Given the description of an element on the screen output the (x, y) to click on. 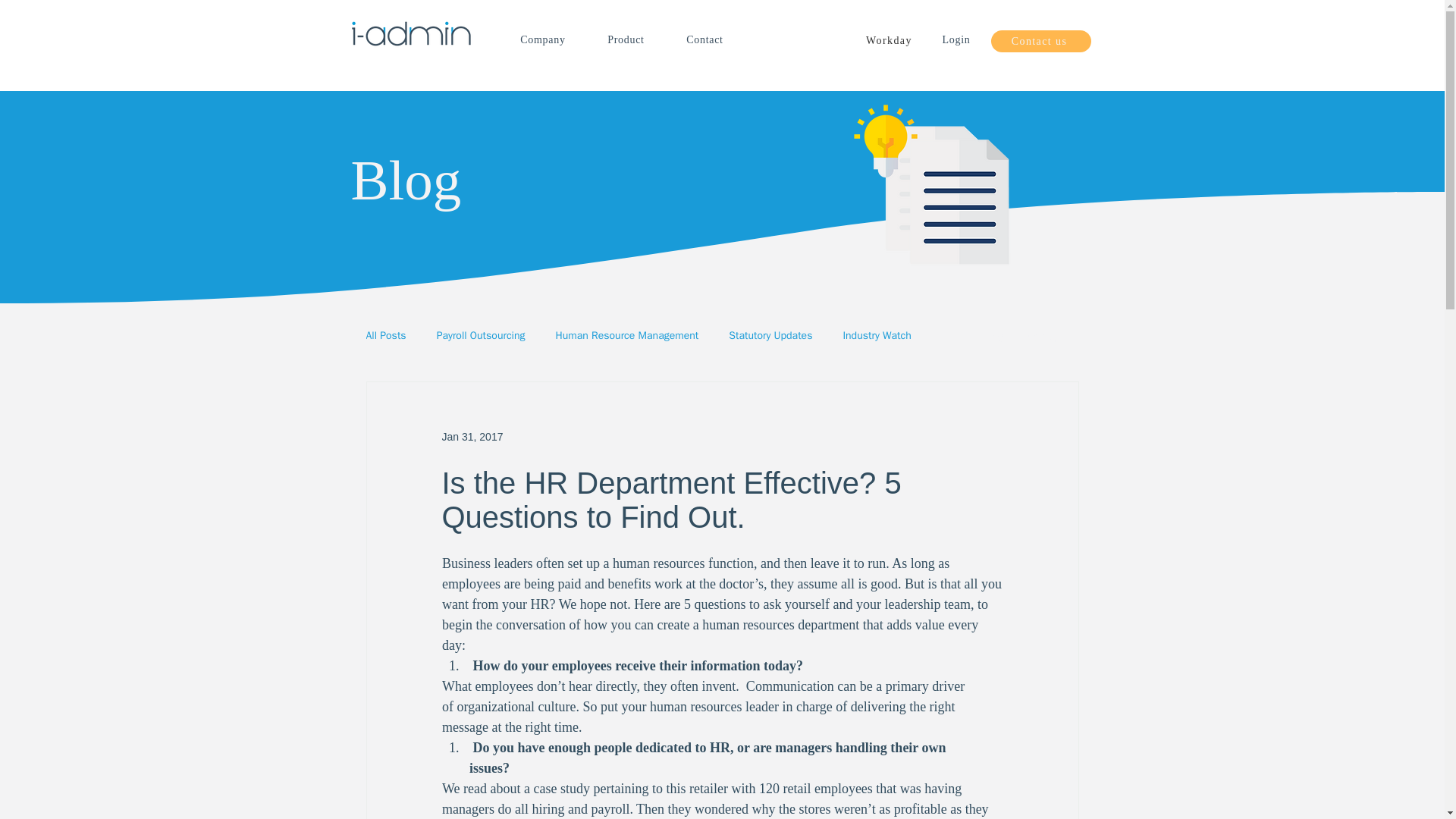
Contact us (1040, 41)
Industry Watch (877, 336)
Jan 31, 2017 (471, 436)
Statutory Updates (770, 336)
Human Resource Management (627, 336)
Payroll Outsourcing (480, 336)
All Posts (385, 336)
Workday (890, 40)
